Given the description of an element on the screen output the (x, y) to click on. 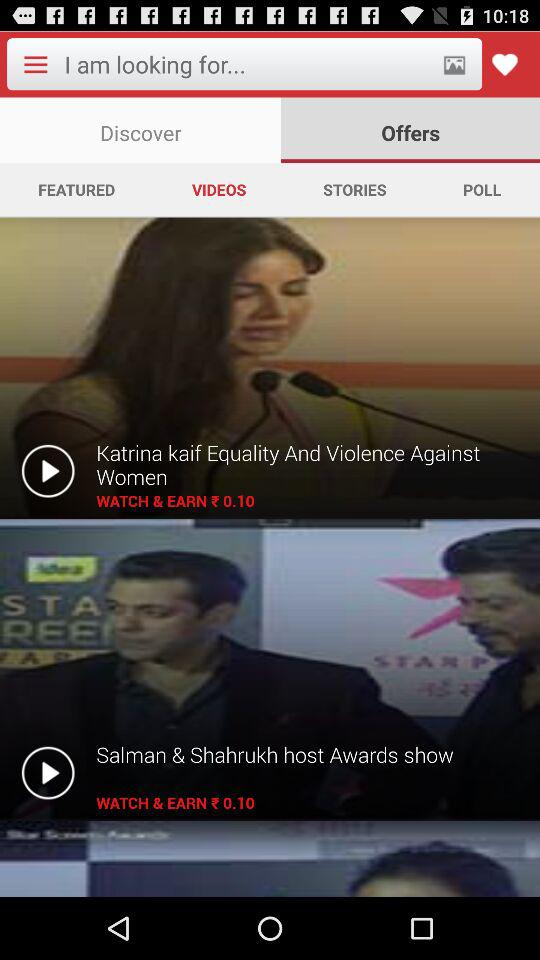
turn off the icon next to videos app (354, 189)
